Given the description of an element on the screen output the (x, y) to click on. 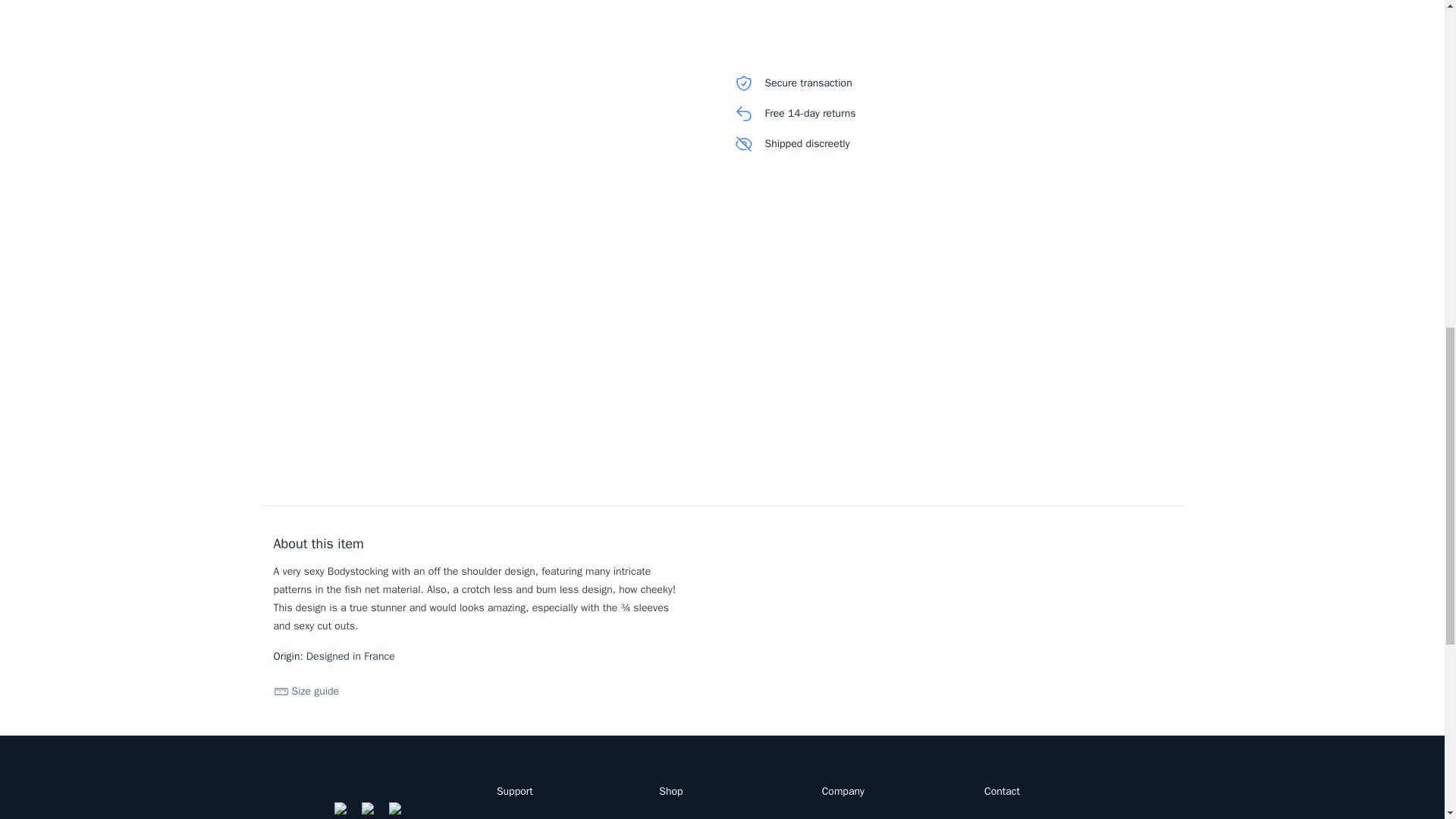
Size guide (306, 691)
